Given the description of an element on the screen output the (x, y) to click on. 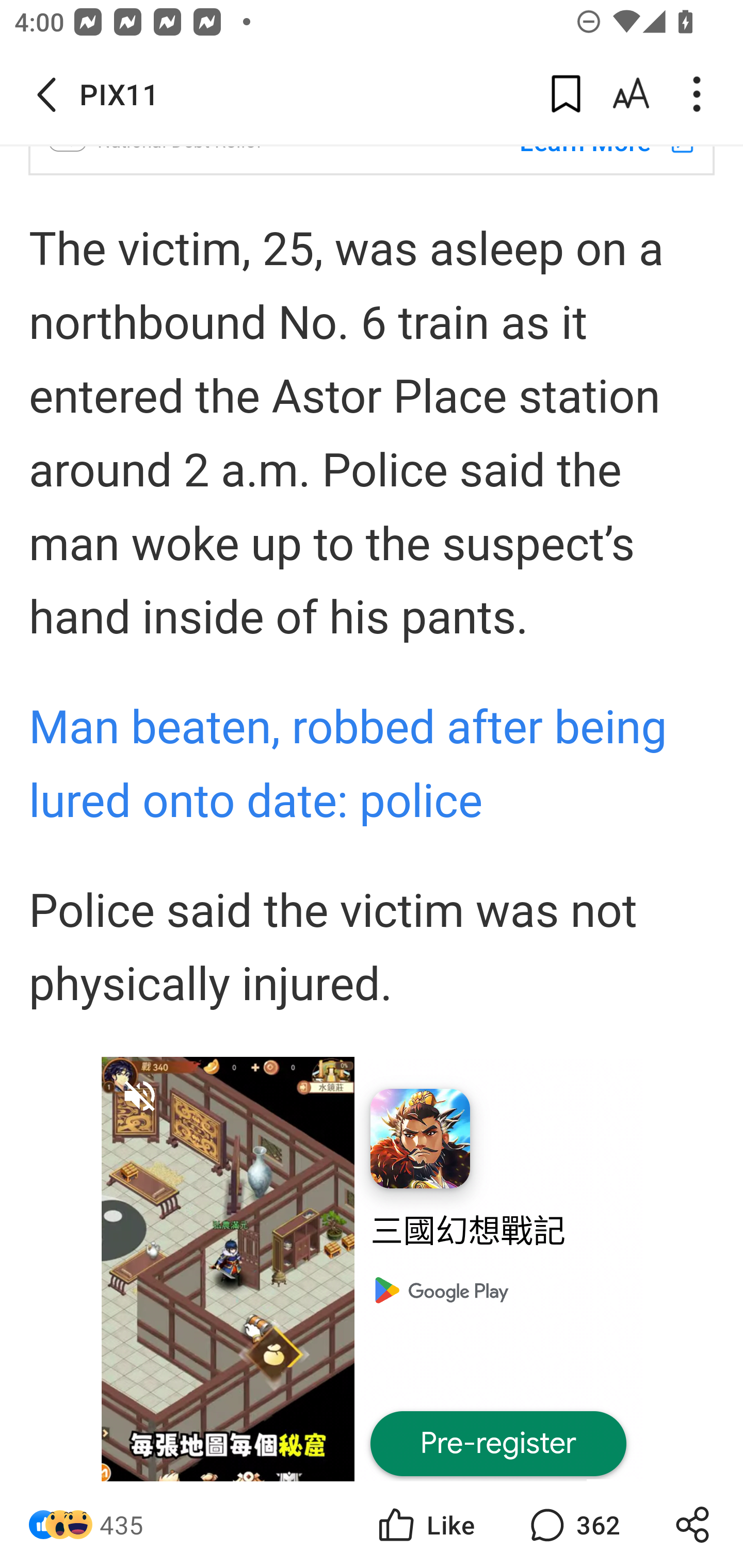
三國幻想戰記 (498, 1231)
Pre-register (498, 1444)
435 (121, 1524)
Like (425, 1524)
362 (572, 1524)
